Given the description of an element on the screen output the (x, y) to click on. 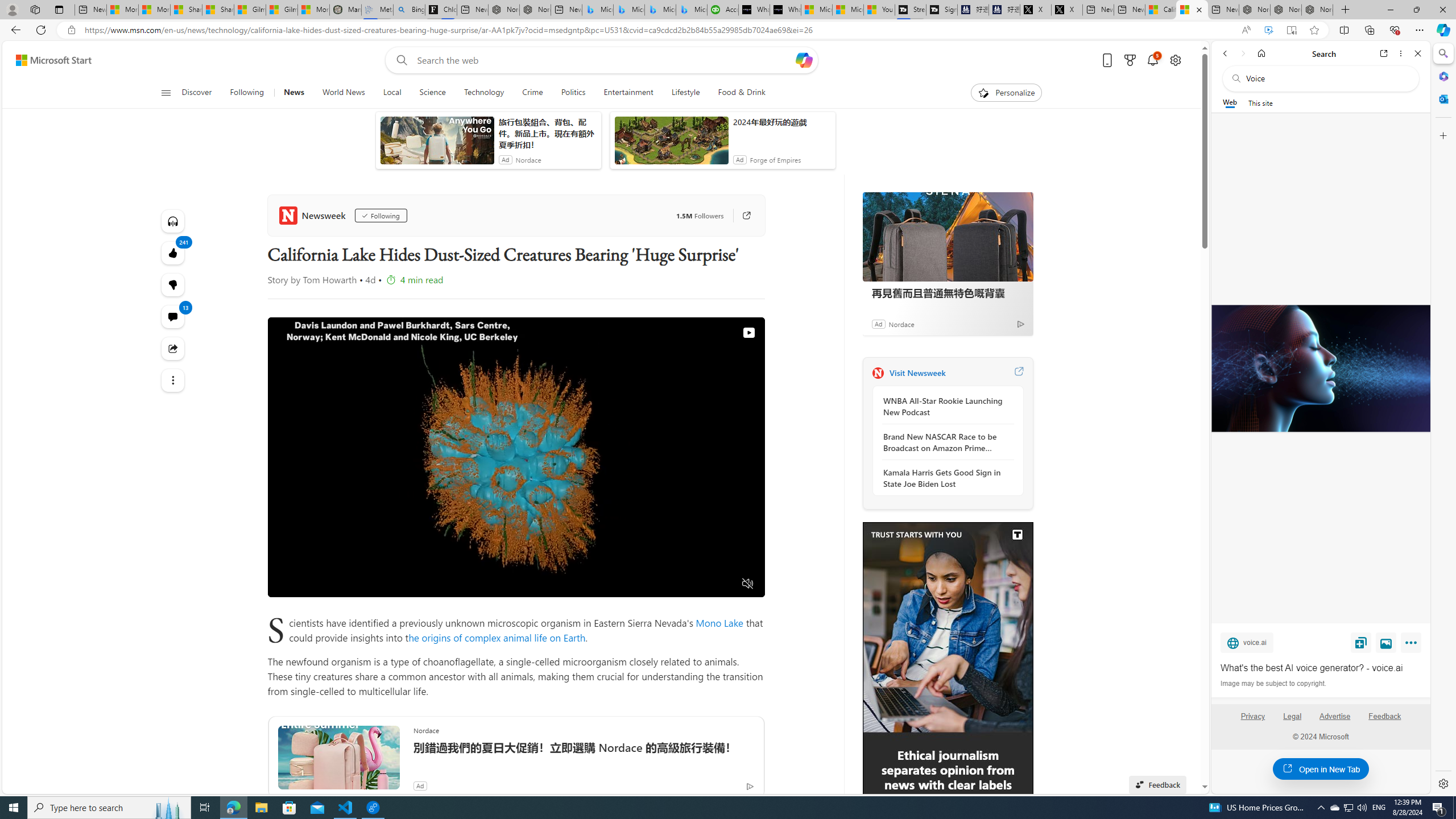
Close (1417, 53)
Following (248, 92)
Enhance video (1268, 29)
World News (343, 92)
Streaming Coverage | T3 (909, 9)
Politics (573, 92)
Address and search bar (658, 29)
Minimize (1390, 9)
Following (246, 92)
Nordace - Siena Pro 15 Essential Set (1317, 9)
anim-content (671, 144)
Newsweek (314, 215)
Newsweek (877, 372)
News (293, 92)
Ad (877, 323)
